Given the description of an element on the screen output the (x, y) to click on. 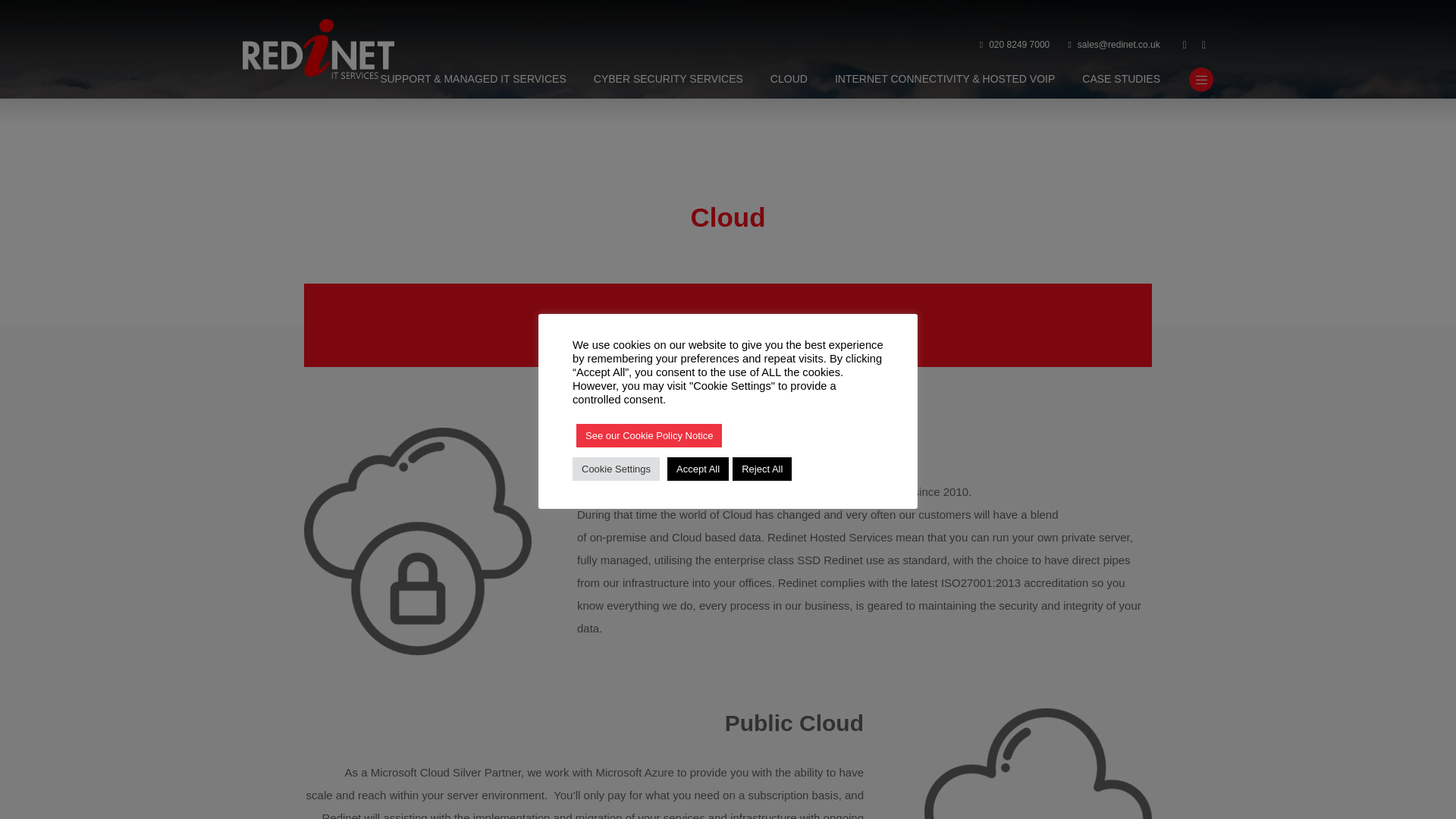
Reject All (762, 467)
CYBER SECURITY SERVICES (668, 79)
CYBER SECURITY SERVICES (668, 79)
Cookie Settings (615, 467)
CASE STUDIES (1120, 79)
CLOUD (789, 79)
See our Cookie Policy Notice (649, 434)
020 8249 7000 (1014, 45)
Accept All (697, 467)
CLOUD (789, 79)
